Given the description of an element on the screen output the (x, y) to click on. 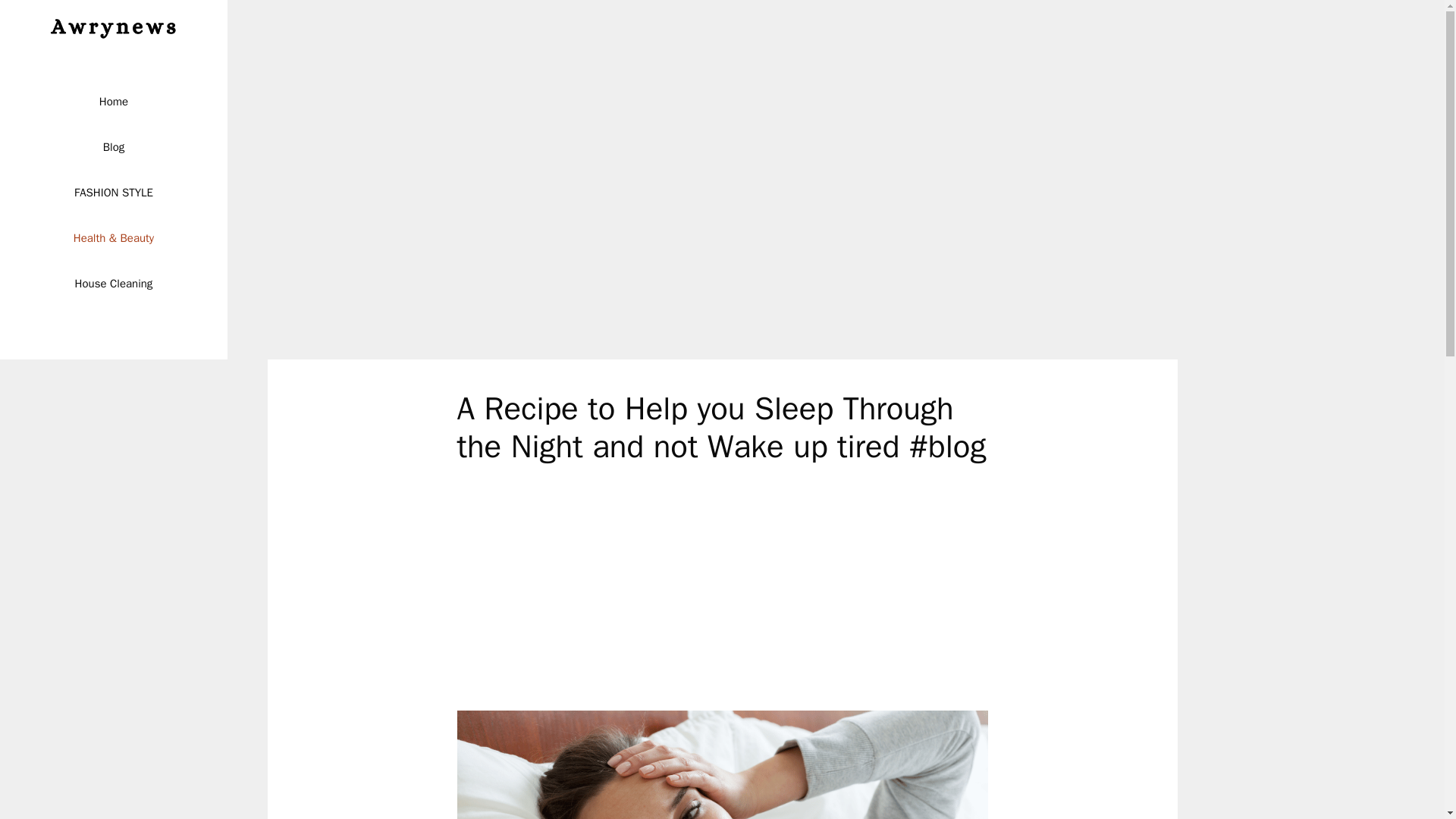
Home (113, 101)
Blog (113, 146)
Advertisement (722, 598)
FASHION STYLE (113, 192)
House Cleaning (113, 283)
